Given the description of an element on the screen output the (x, y) to click on. 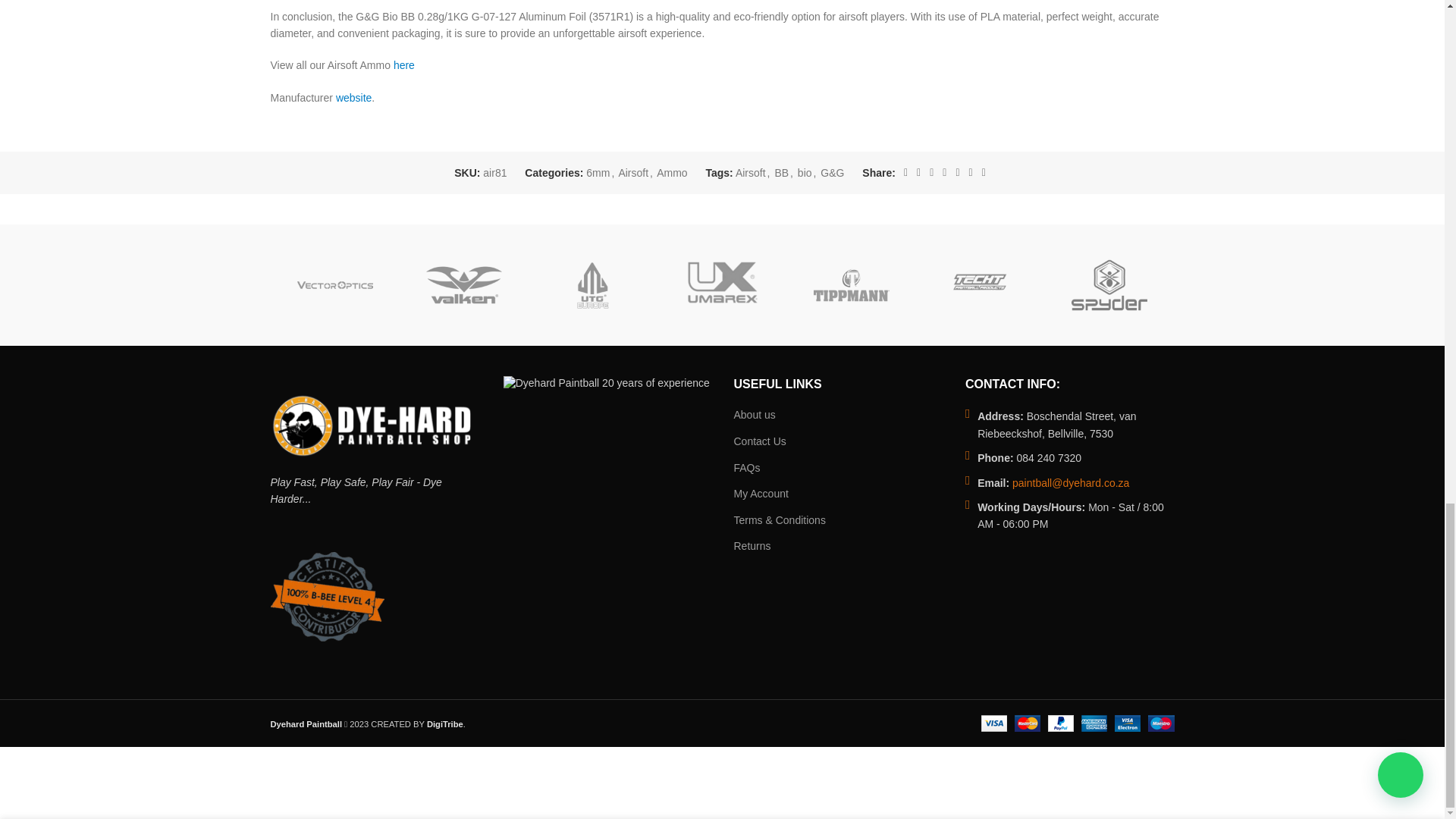
Vector Optics (333, 284)
Valken (463, 284)
UTG (593, 284)
